Given the description of an element on the screen output the (x, y) to click on. 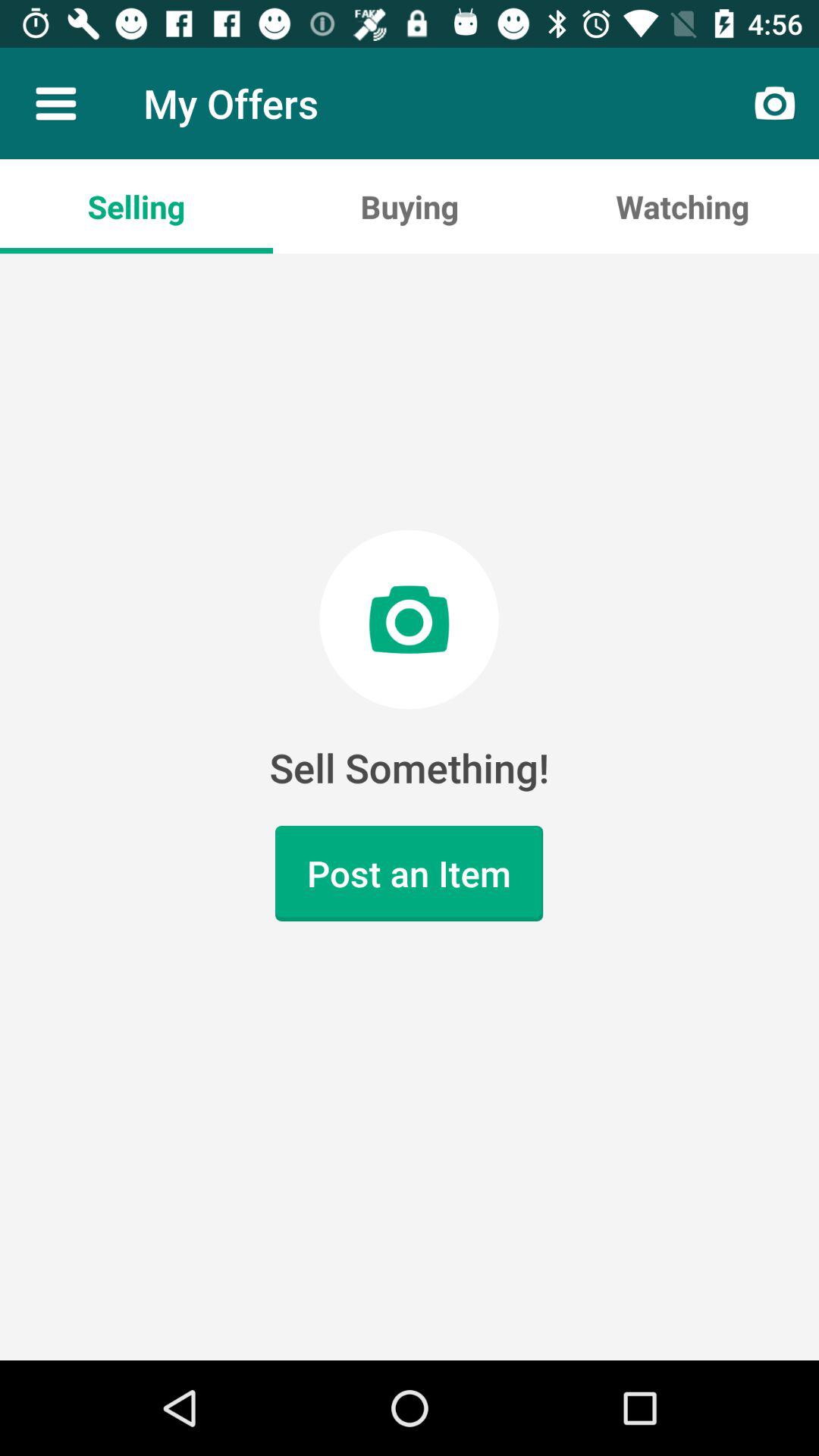
tap buying icon (409, 206)
